Given the description of an element on the screen output the (x, y) to click on. 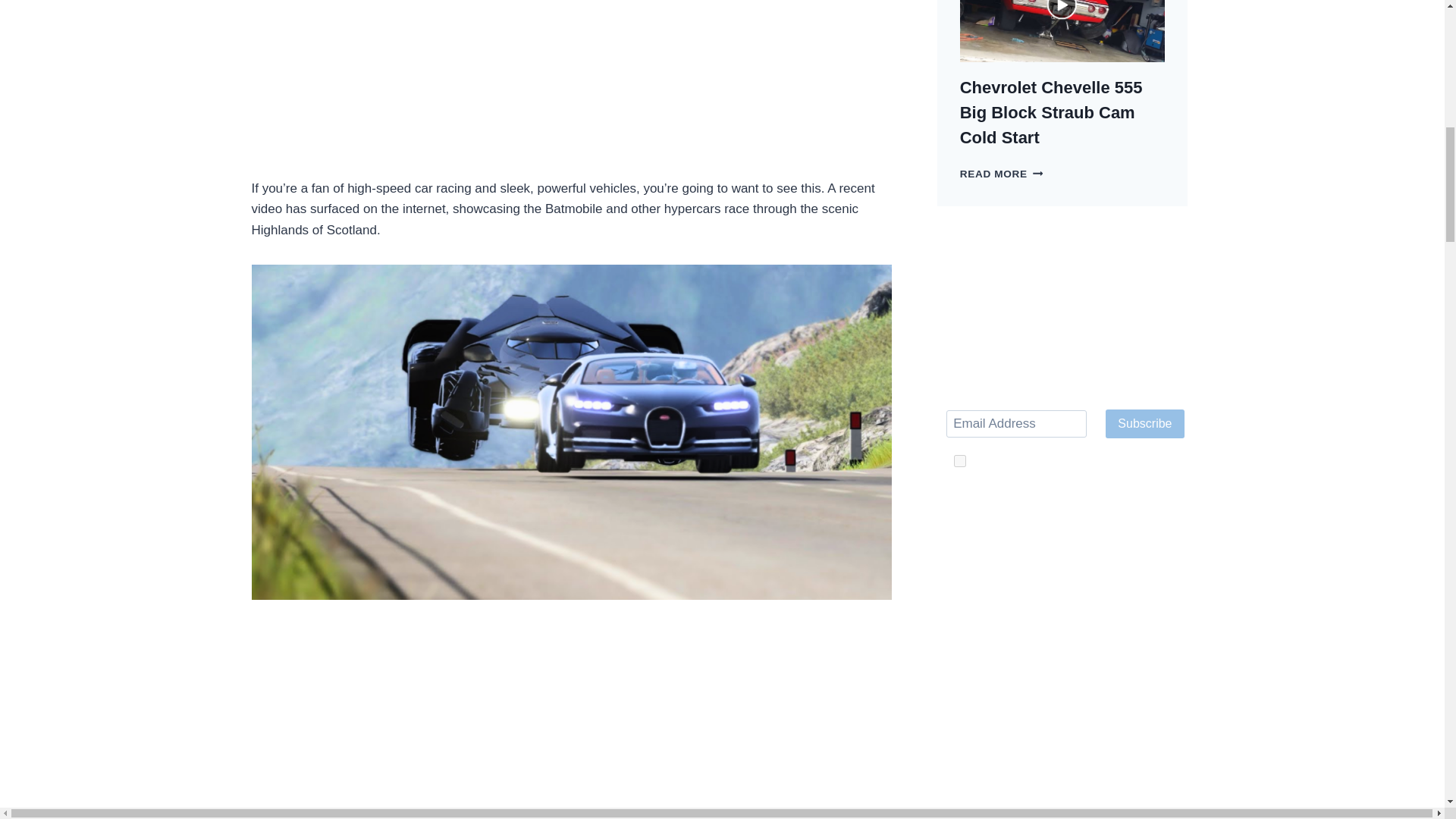
Subscribe (1144, 423)
Advertisement (571, 85)
Advertisement (571, 721)
1 (959, 460)
